Given the description of an element on the screen output the (x, y) to click on. 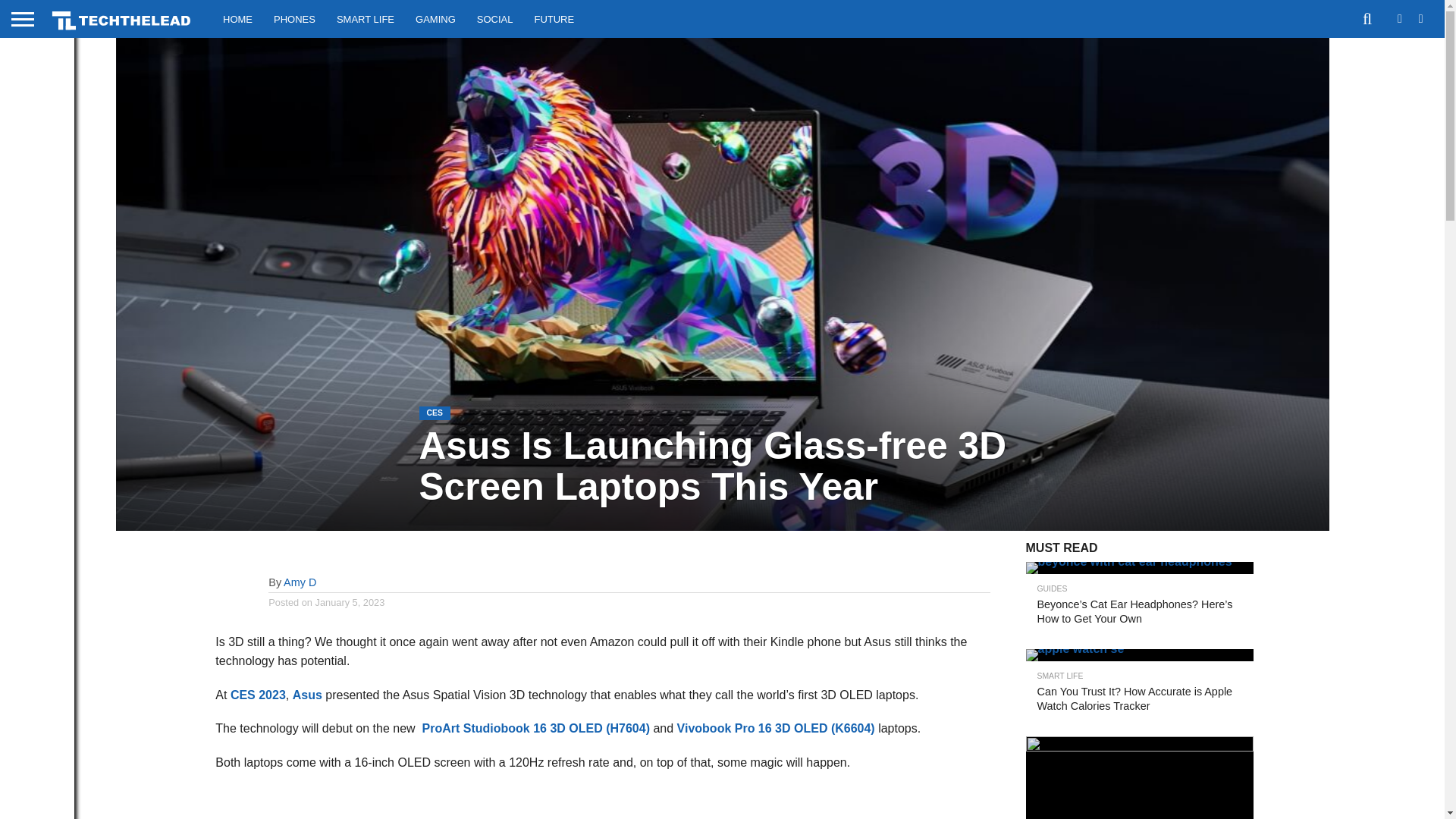
HOME (237, 18)
GAMING (434, 18)
FUTURE (553, 18)
SOCIAL (494, 18)
Posts by Amy D (299, 582)
SMART LIFE (365, 18)
PHONES (294, 18)
